Given the description of an element on the screen output the (x, y) to click on. 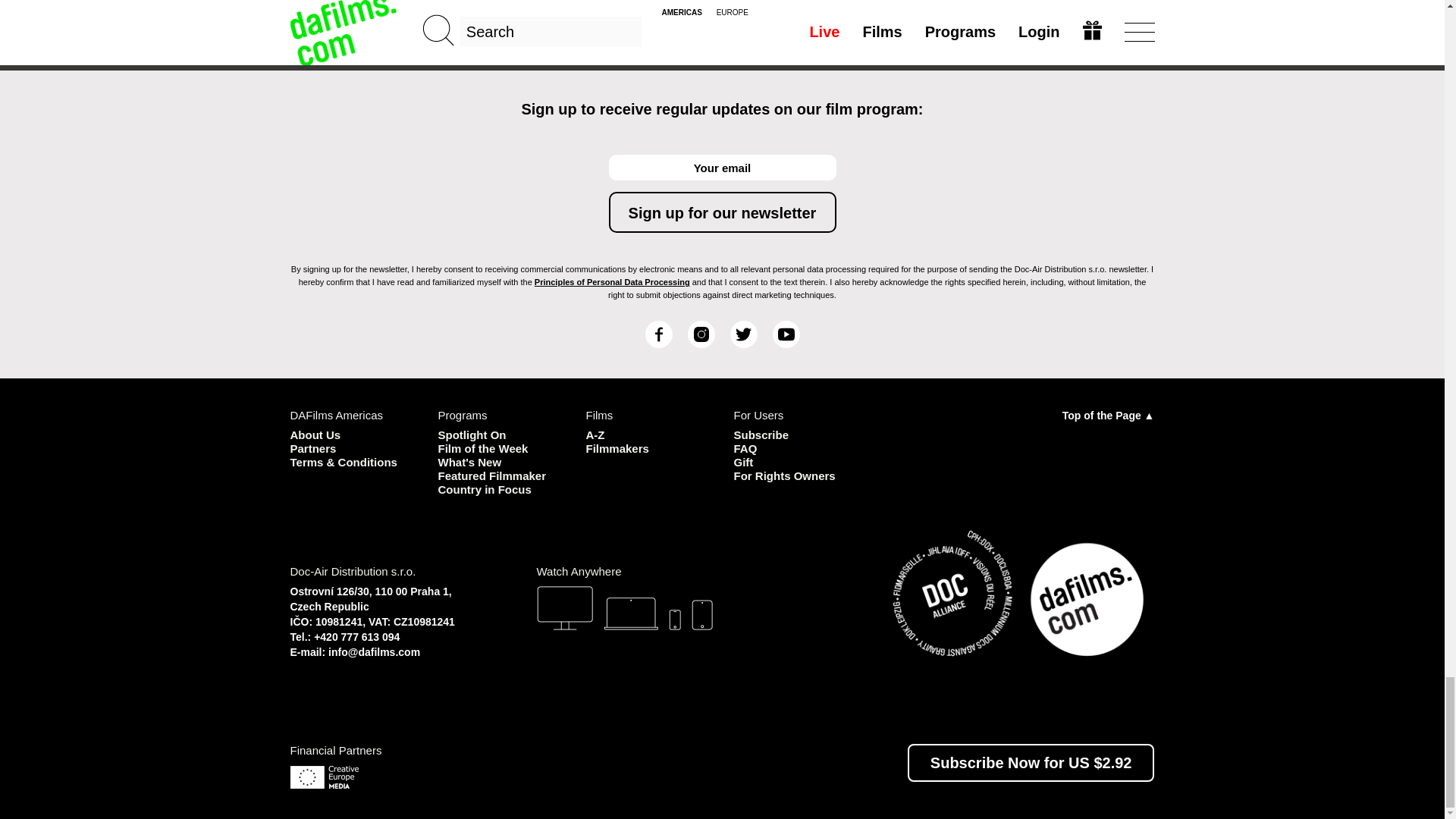
Sign up for our newsletter (721, 211)
